Given the description of an element on the screen output the (x, y) to click on. 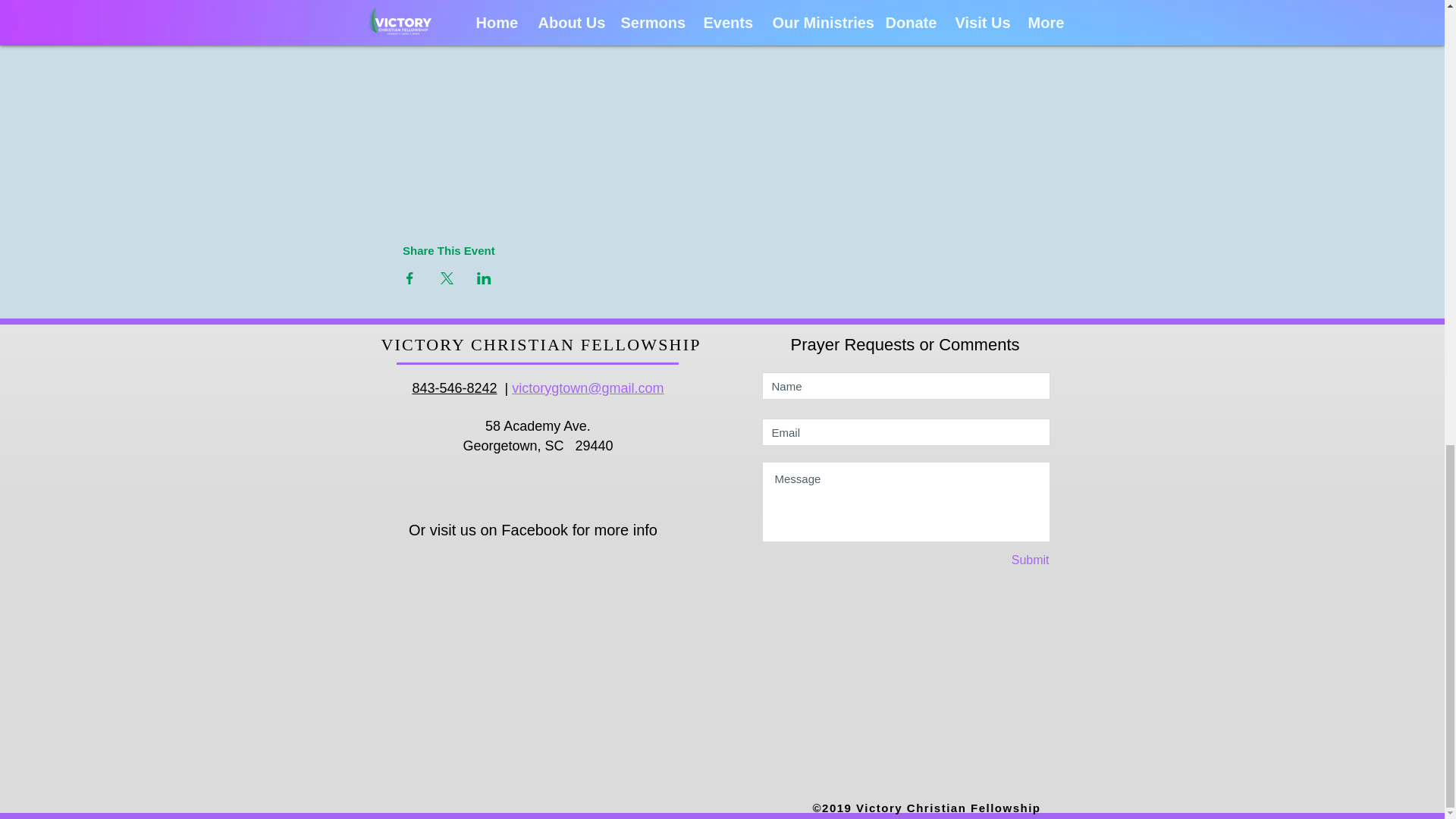
victorygt (537, 387)
Facebook Like (542, 563)
843-546-8242 (454, 387)
Submit (995, 560)
